Given the description of an element on the screen output the (x, y) to click on. 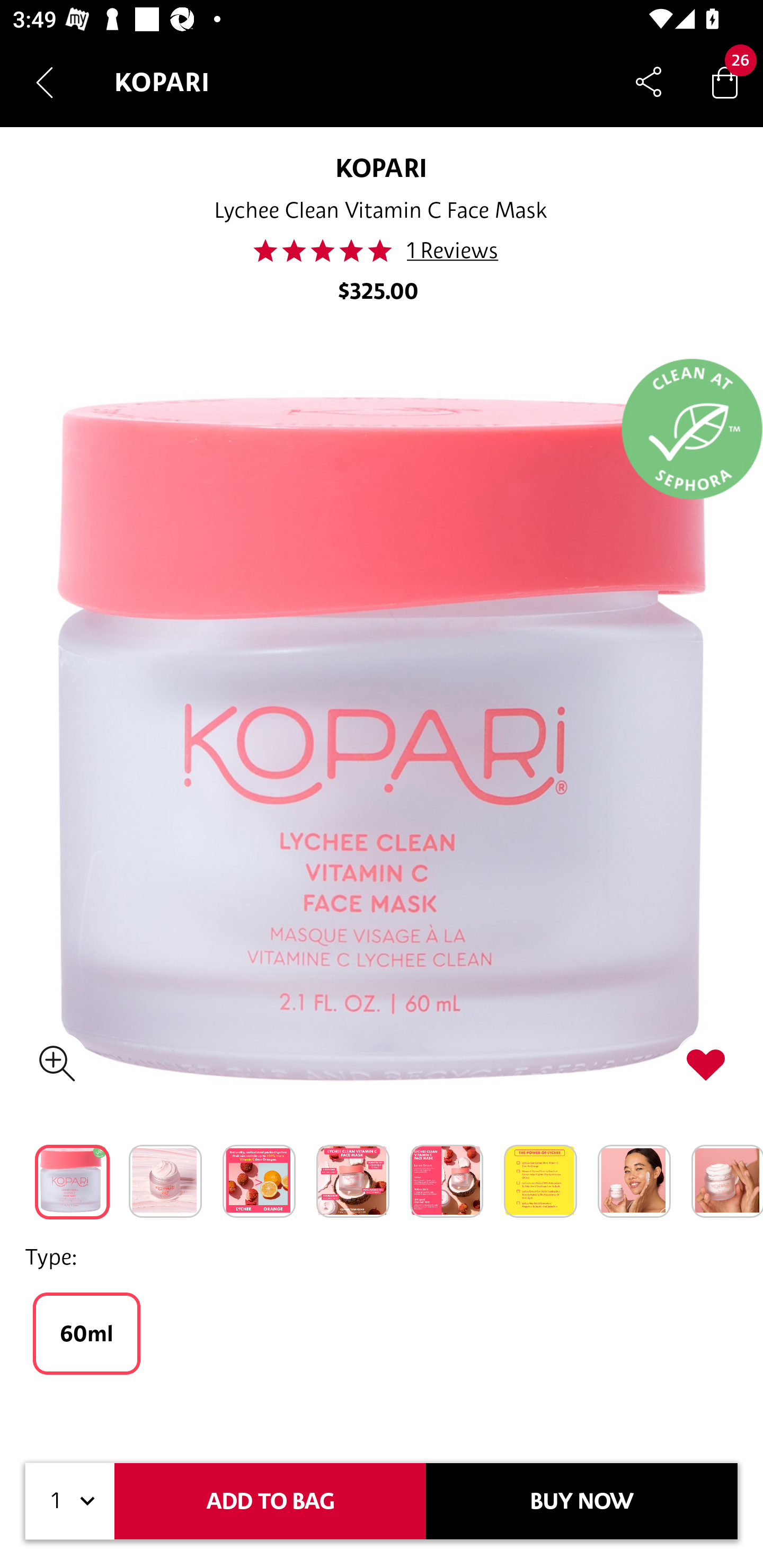
Navigate up (44, 82)
Share (648, 81)
Bag (724, 81)
KOPARI (381, 167)
50.0 1 Reviews (381, 250)
60ml (86, 1333)
1 (69, 1500)
ADD TO BAG (269, 1500)
BUY NOW (581, 1500)
